Given the description of an element on the screen output the (x, y) to click on. 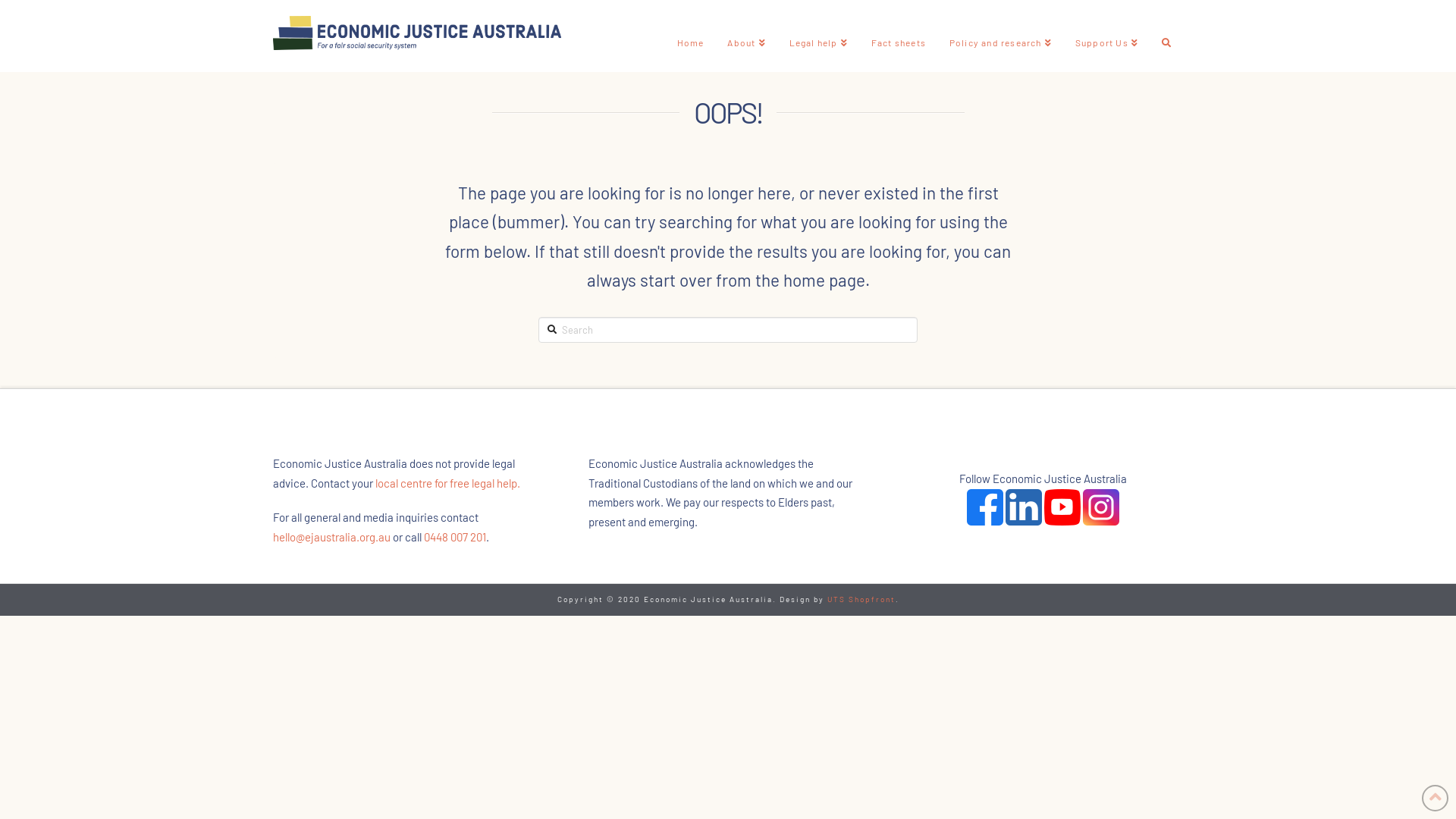
About Element type: text (745, 36)
Policy and research Element type: text (1000, 36)
0448 007 201 Element type: text (454, 536)
UTS Shopfront Element type: text (860, 598)
local centre for free legal help. Element type: text (447, 482)
hello@ejaustralia.org.au Element type: text (331, 536)
Home Element type: text (690, 36)
Legal help Element type: text (818, 36)
Fact sheets Element type: text (898, 36)
Support Us Element type: text (1106, 36)
Back to Top Element type: hover (1434, 797)
